Given the description of an element on the screen output the (x, y) to click on. 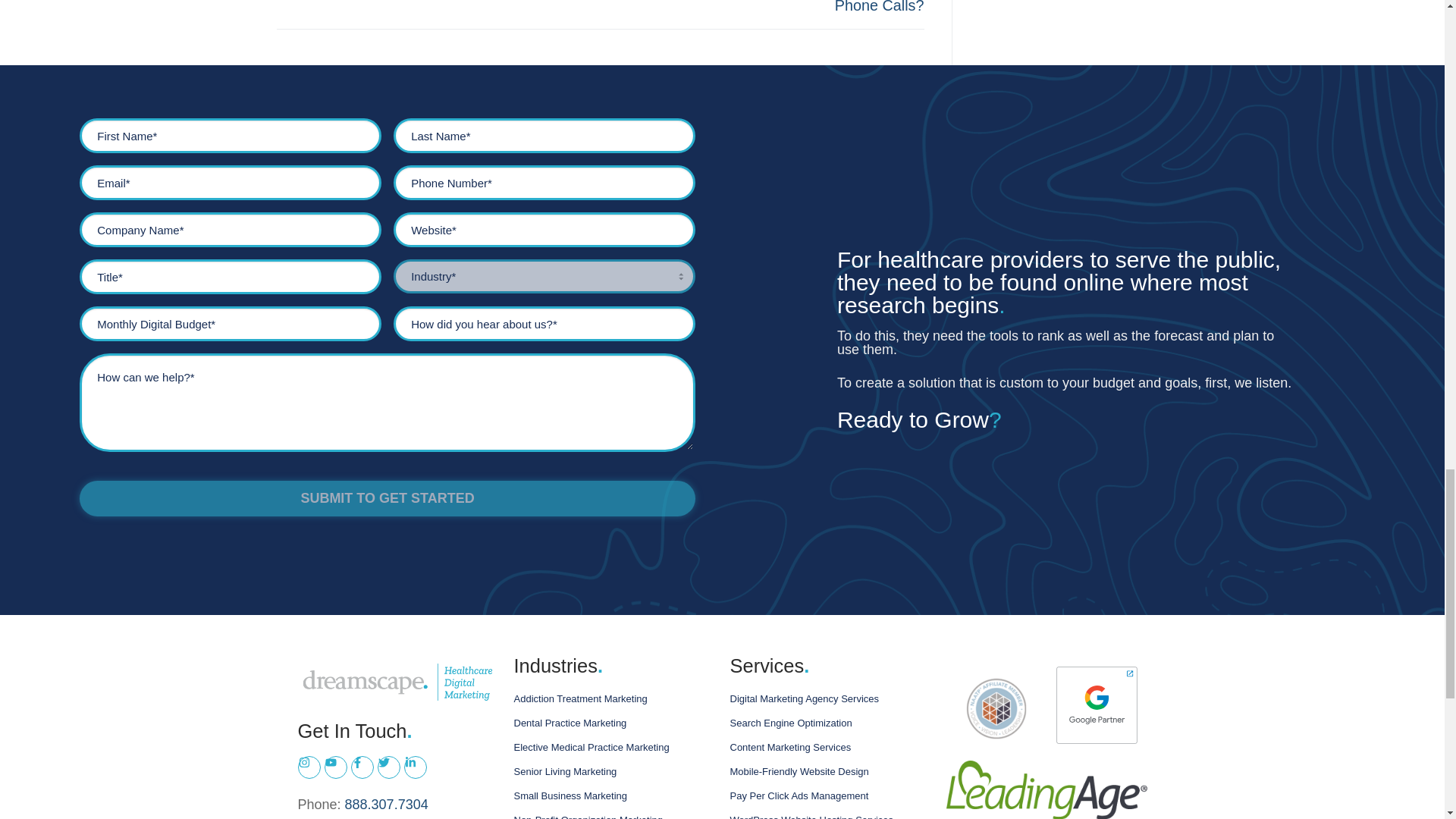
Submit to Get Started (387, 498)
